Given the description of an element on the screen output the (x, y) to click on. 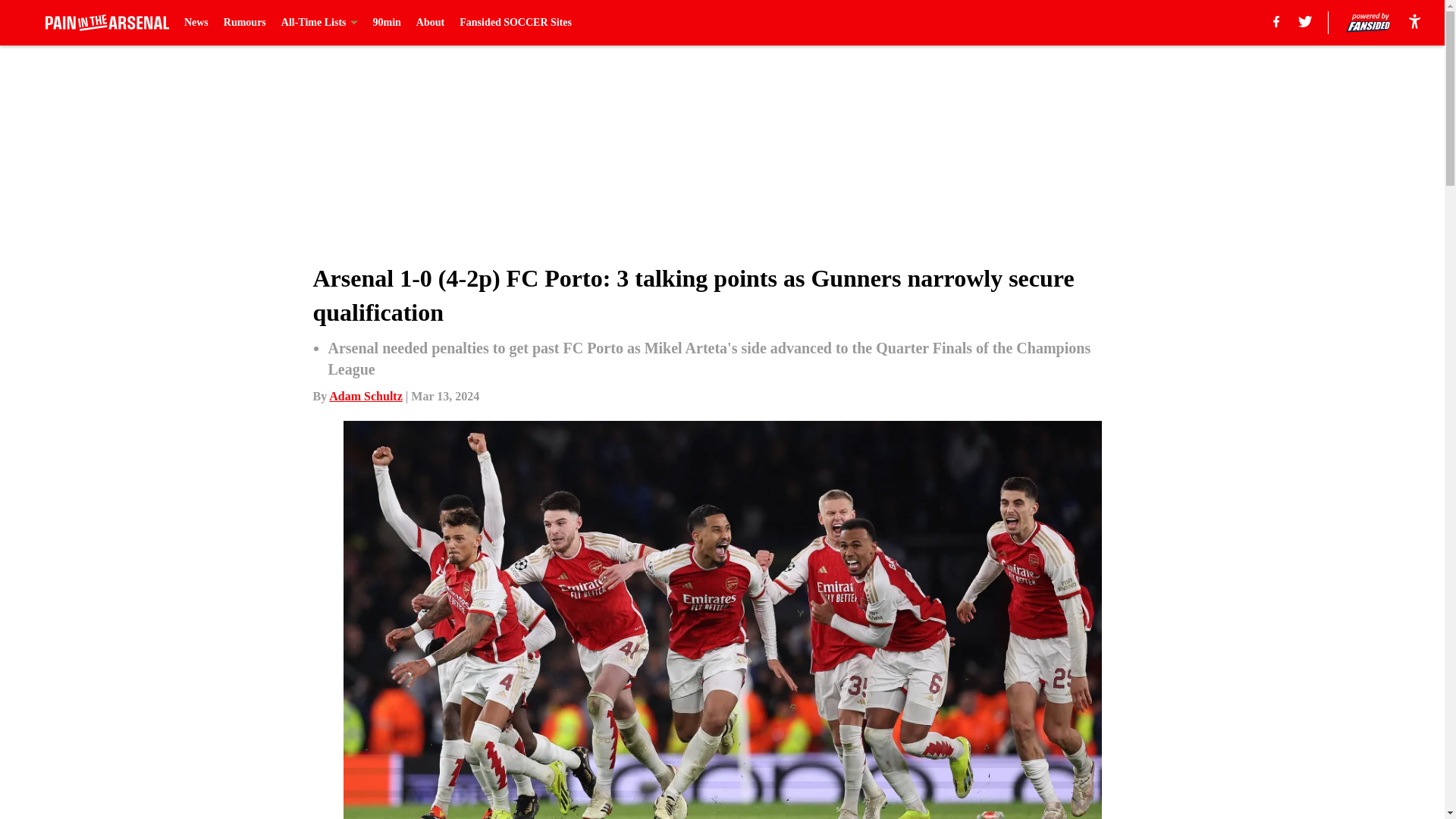
90min (386, 22)
Adam Schultz (365, 395)
News (196, 22)
About (430, 22)
Fansided SOCCER Sites (516, 22)
Rumours (245, 22)
